Given the description of an element on the screen output the (x, y) to click on. 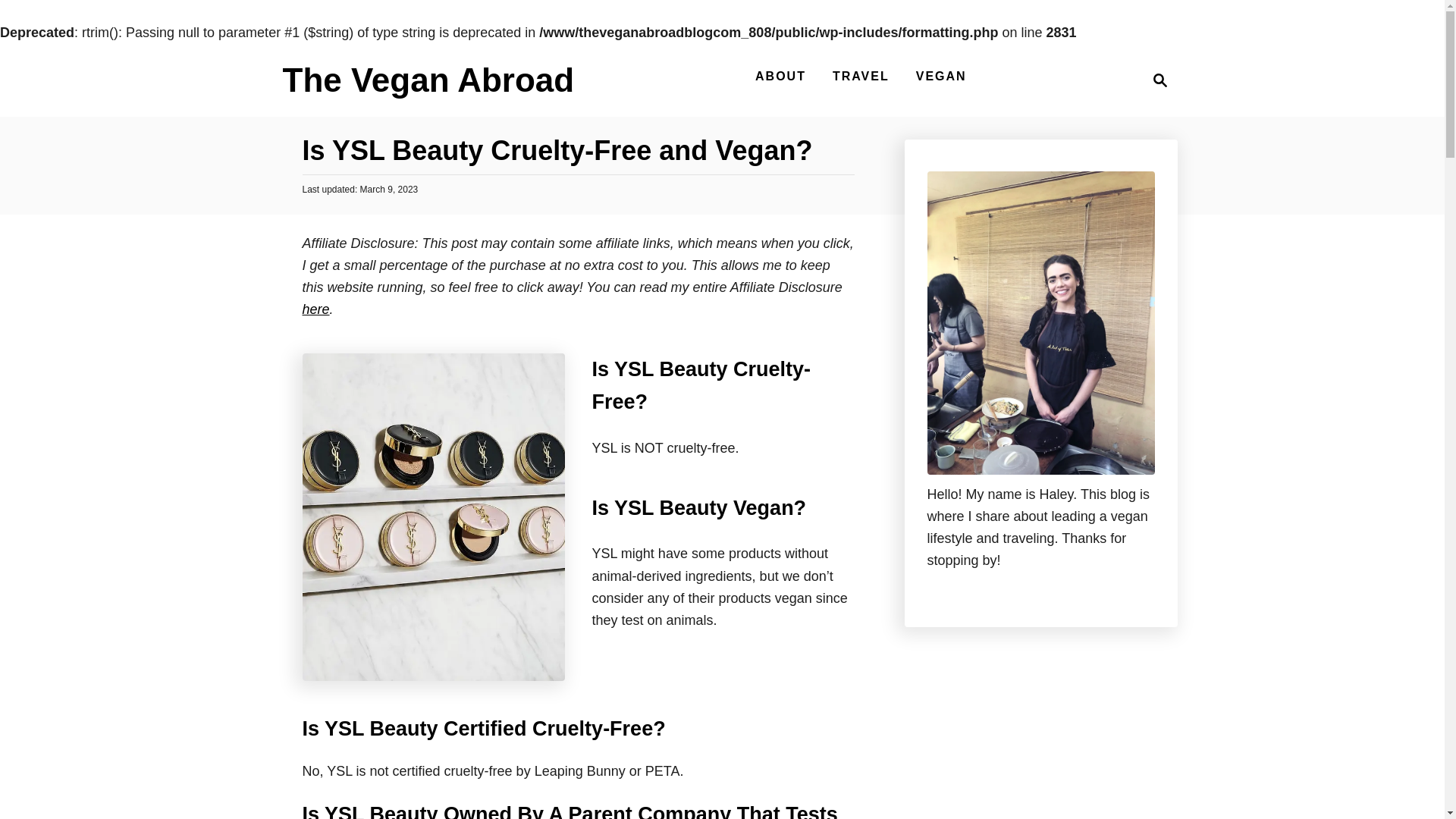
Magnifying Glass (1155, 79)
here (1160, 80)
TRAVEL (315, 309)
ABOUT (860, 76)
VEGAN (780, 76)
The Vegan Abroad (941, 76)
The Vegan Abroad (427, 87)
